Given the description of an element on the screen output the (x, y) to click on. 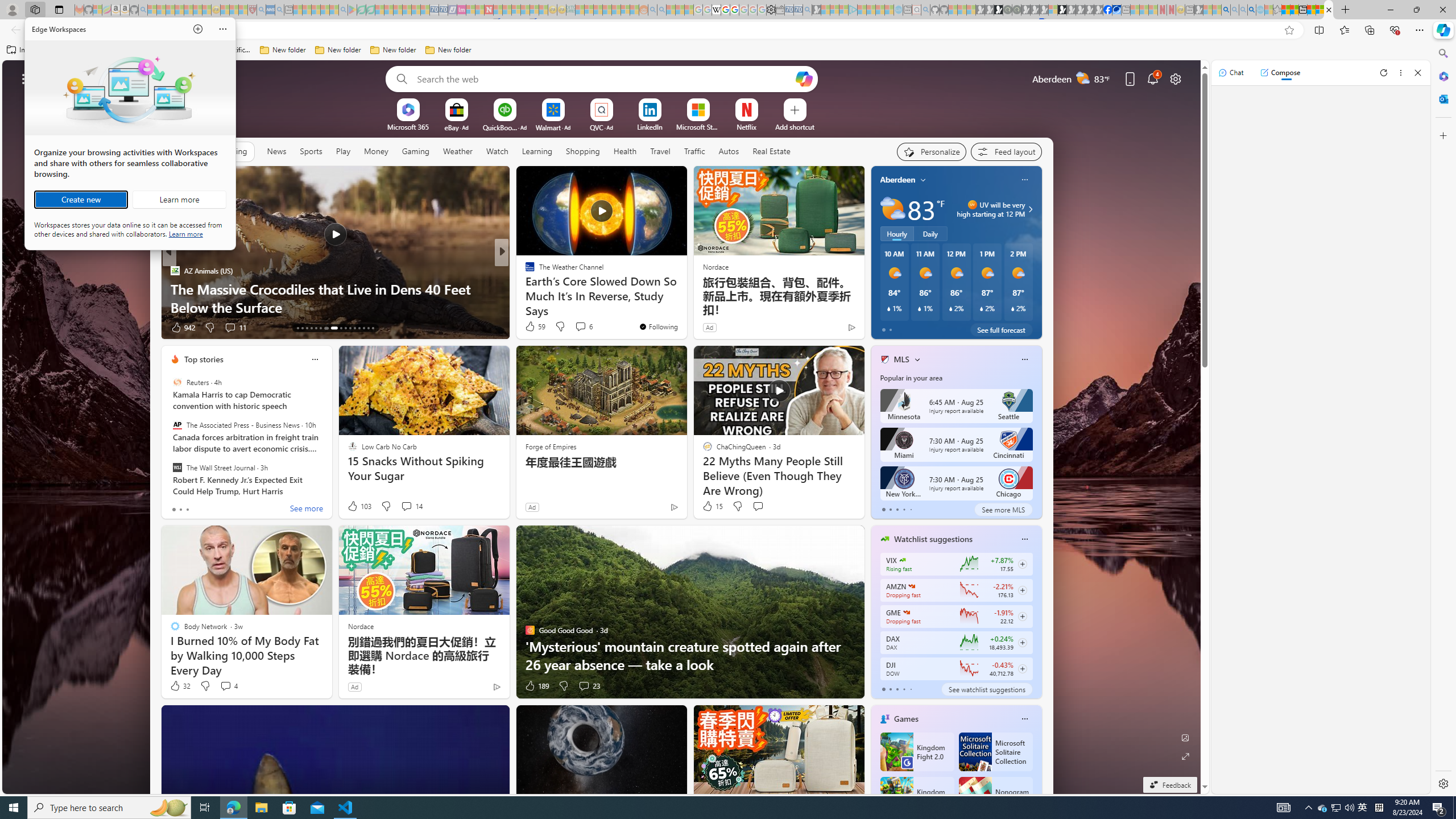
Microsoft Store (289, 807)
tab-0 (882, 689)
Chat (1230, 72)
Aberdeen (897, 179)
View comments 9 Comment (229, 327)
Tray Input Indicator - Chinese (Simplified, China) (1378, 807)
Games (905, 718)
Kingdom Fight 2.0 (916, 751)
189 Like (536, 685)
